Given the description of an element on the screen output the (x, y) to click on. 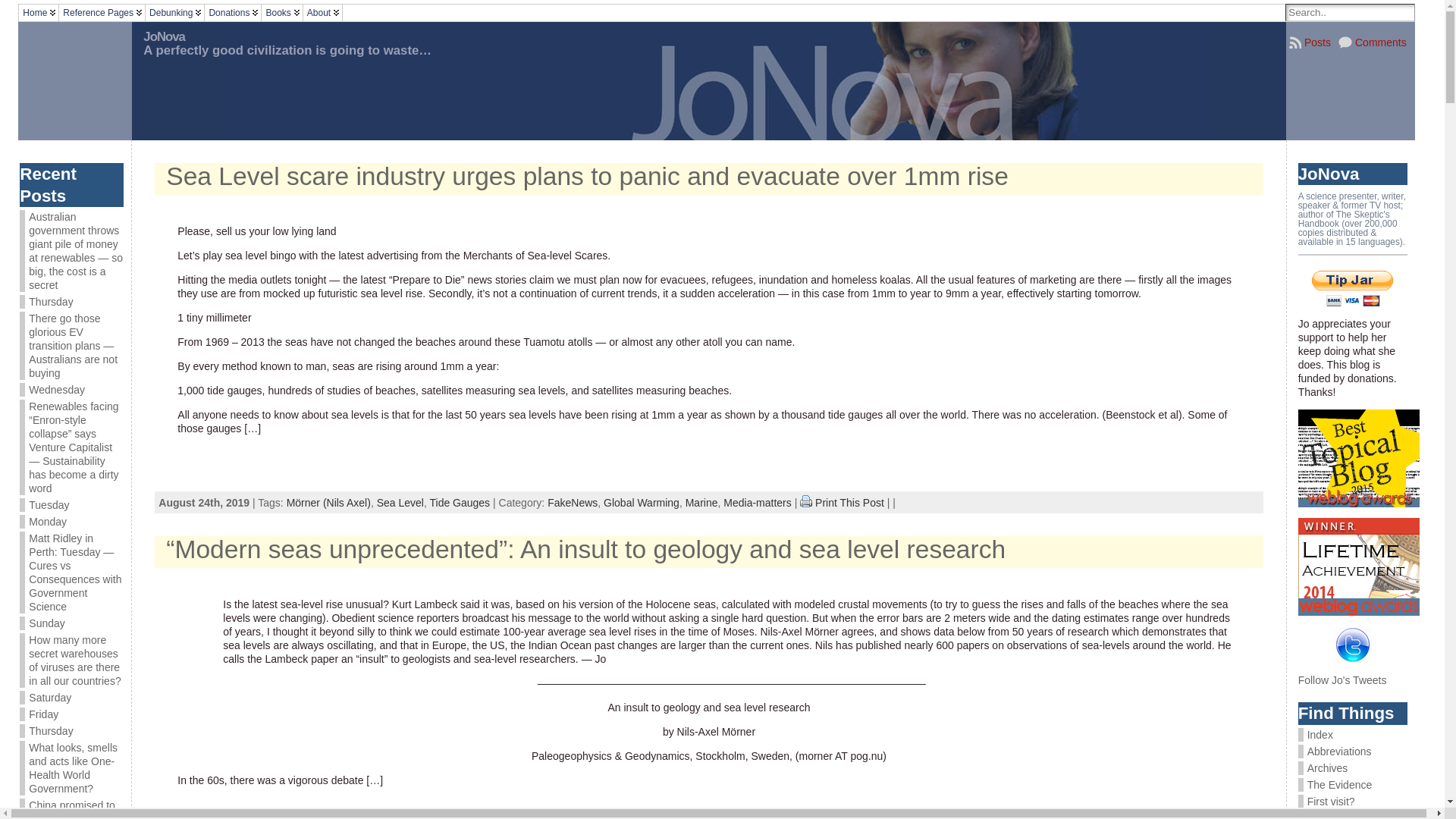
The Evidence Element type: text (1352, 784)
Global Warming Element type: text (641, 502)
Media-matters Element type: text (756, 502)
Debunking Element type: text (174, 12)
Abbreviations Element type: text (1352, 751)
Thursday Element type: text (50, 730)
Posts Element type: text (1309, 42)
About Element type: text (322, 12)
Archives Element type: text (1352, 768)
Print This Post Element type: hover (806, 502)
Friday Element type: text (43, 714)
Follow Jo's Tweets Element type: text (1342, 680)
Sea Level Element type: text (399, 502)
Print This Post Element type: hover (806, 501)
Thursday Element type: text (50, 301)
Sunday Element type: text (46, 623)
Wednesday Element type: text (56, 389)
Marine Element type: text (701, 502)
Donations Element type: text (232, 12)
Monday Element type: text (47, 521)
Index Element type: text (1352, 734)
Reference Pages Element type: text (101, 12)
Saturday Element type: text (49, 697)
Tuesday Element type: text (48, 504)
Books Element type: text (281, 12)
Print This Post Element type: text (849, 502)
Comments Element type: text (1372, 42)
JoNova Element type: text (164, 36)
FakeNews Element type: text (572, 502)
First visit? Element type: text (1352, 801)
Home Element type: text (38, 12)
Tide Gauges Element type: text (459, 502)
